Given the description of an element on the screen output the (x, y) to click on. 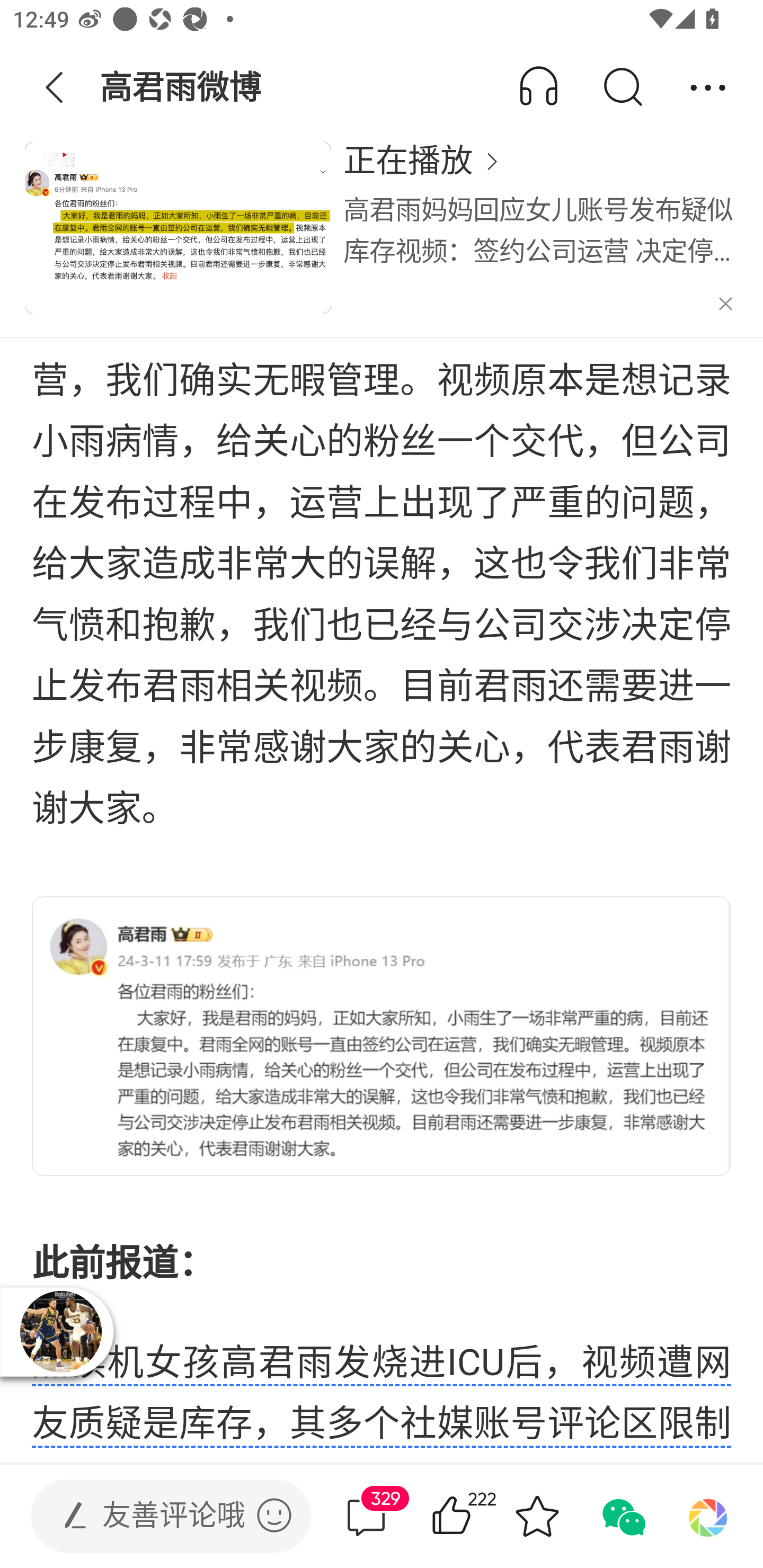
高君雨微博 (182, 87)
搜索  (622, 87)
分享  (707, 87)
 返回 (54, 87)
正在播放  高君雨妈妈回应女儿账号发布疑似库存视频：签约公司运营 决定停止发布 (381, 237)
新闻图片 (381, 1036)
播放器 (60, 1331)
点读机女孩高君雨发烧进ICU后，视频遭网友质疑是库存，其多个社媒账号评论区限制留言 (381, 1400)
发表评论  友善评论哦 发表评论  (155, 1516)
329评论  329 评论 (365, 1516)
222赞 (476, 1516)
收藏  (536, 1516)
分享到微信  (622, 1516)
分享到朋友圈 (707, 1516)
 (274, 1515)
